Given the description of an element on the screen output the (x, y) to click on. 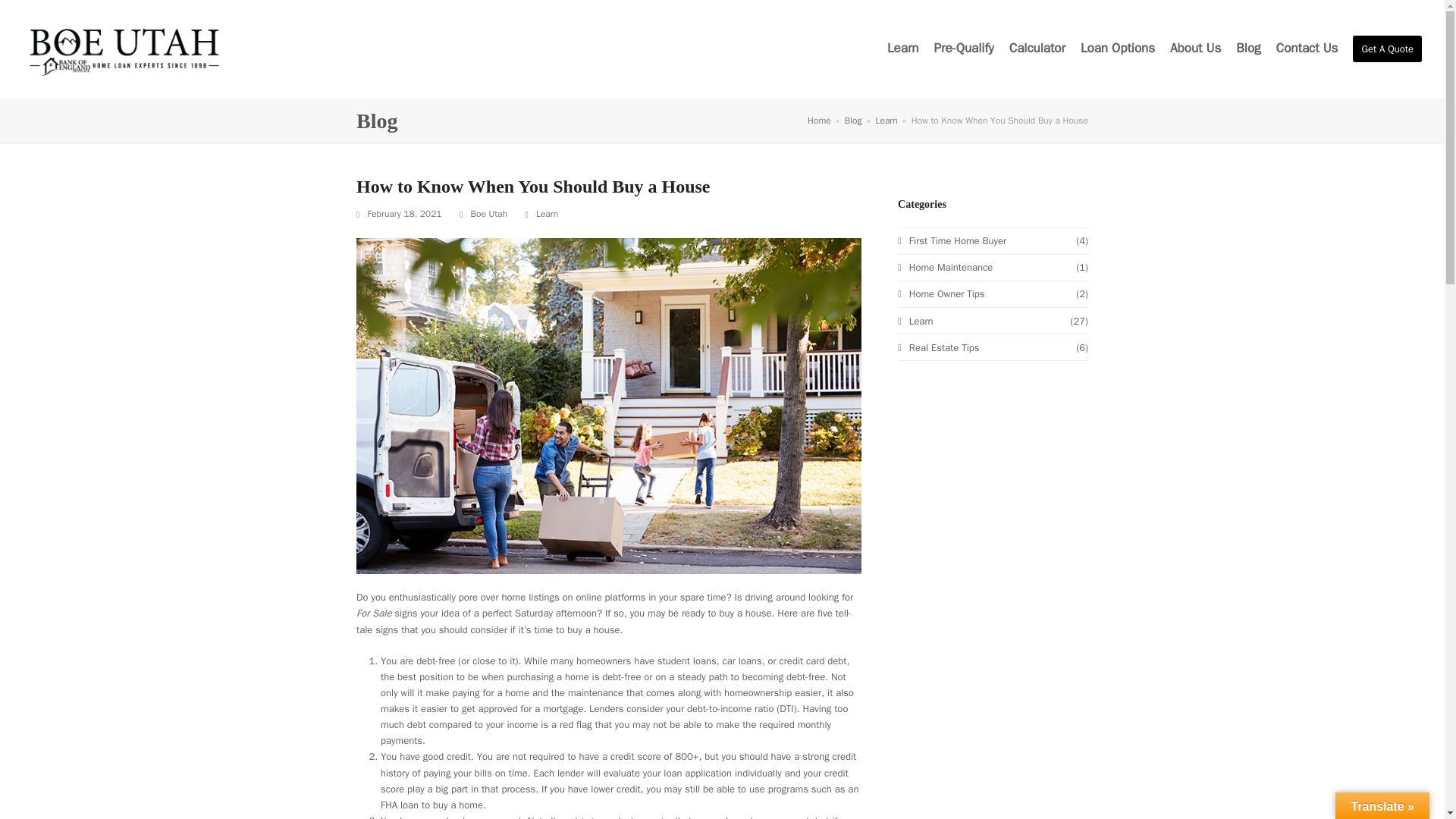
Get A Quote (1387, 48)
Calculator (1037, 48)
Real Estate Tips (938, 347)
Contact Us (1307, 48)
Pre-Qualify (964, 48)
Home Maintenance (945, 267)
Learn (546, 214)
Loan Options (1117, 48)
Get A Quote (1387, 48)
First Time Home Buyer (952, 240)
Boe Utah (488, 214)
Learn (915, 320)
About Us (1195, 48)
Home (819, 120)
Loan Options (1117, 48)
